Given the description of an element on the screen output the (x, y) to click on. 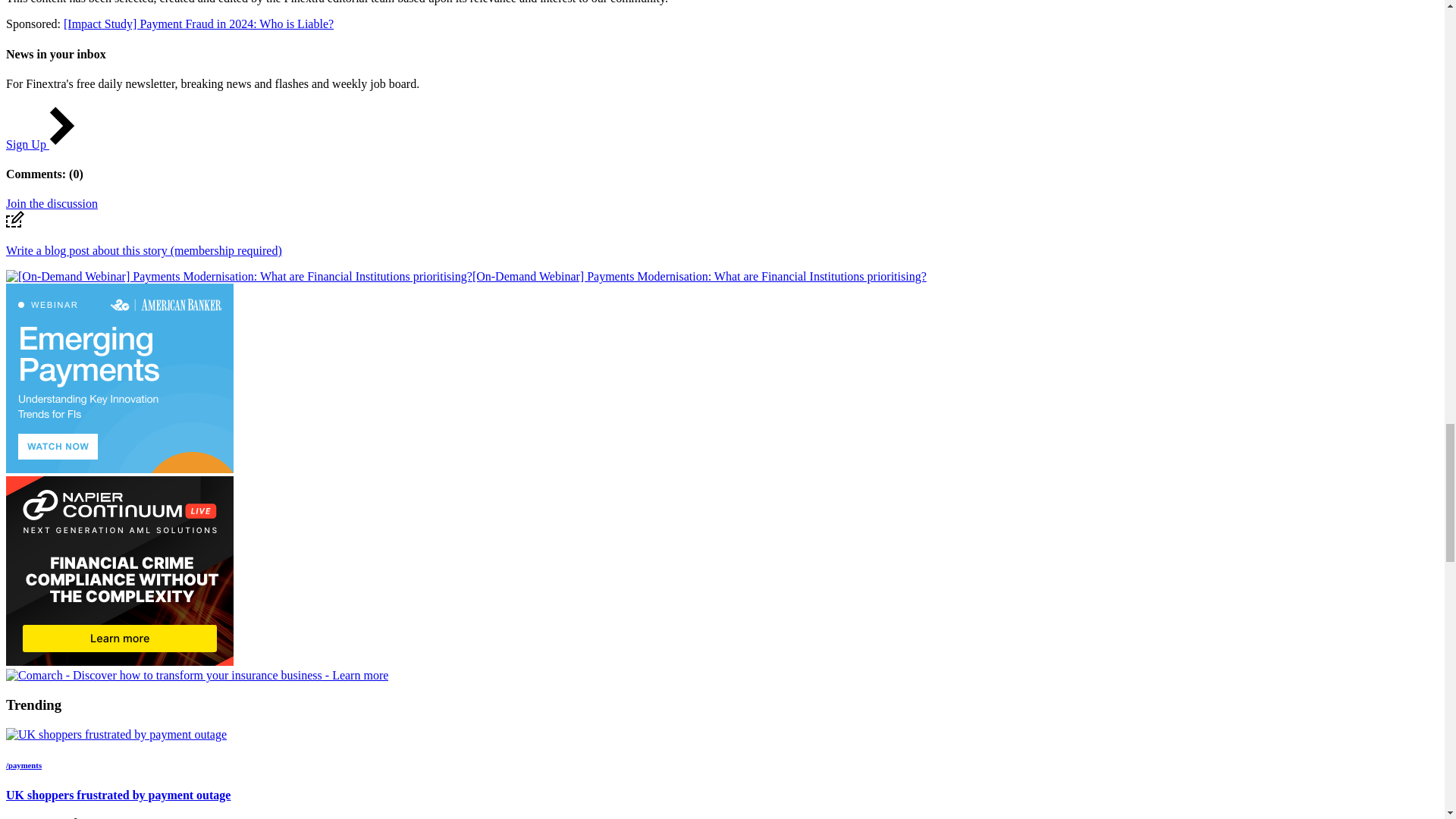
UK shoppers frustrated by payment outage (116, 734)
UK shoppers frustrated by payment outage (116, 735)
